Given the description of an element on the screen output the (x, y) to click on. 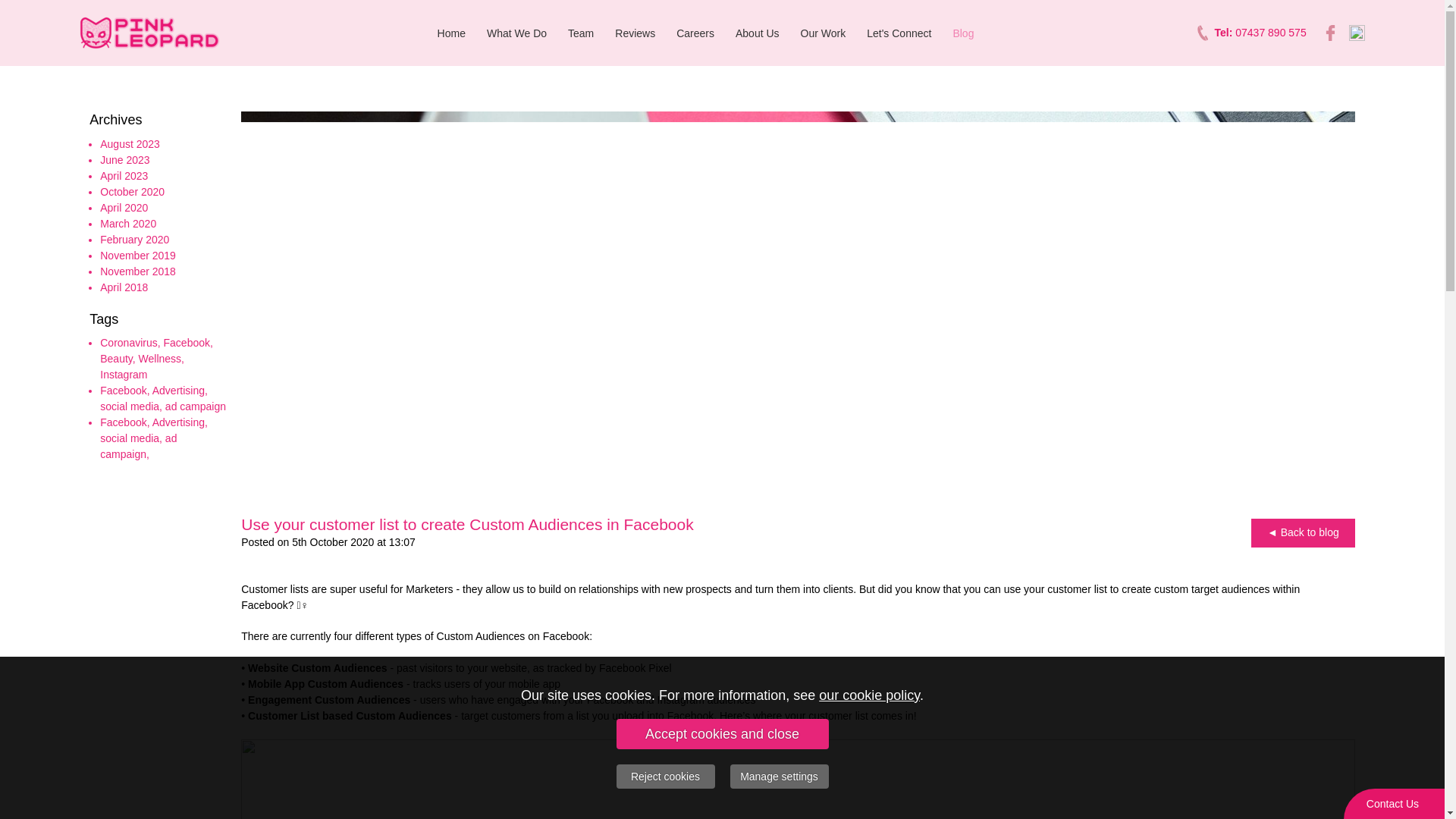
Team (580, 33)
Facebook, Advertising, social media, ad campaign (162, 398)
Reviews (634, 33)
April 2020 (124, 207)
Coronavirus, Facebook, Beauty, Wellness, Instagram (156, 358)
Our Work (823, 33)
Home (451, 33)
November 2019 (138, 255)
August 2023 (130, 143)
March 2020 (127, 223)
